Given the description of an element on the screen output the (x, y) to click on. 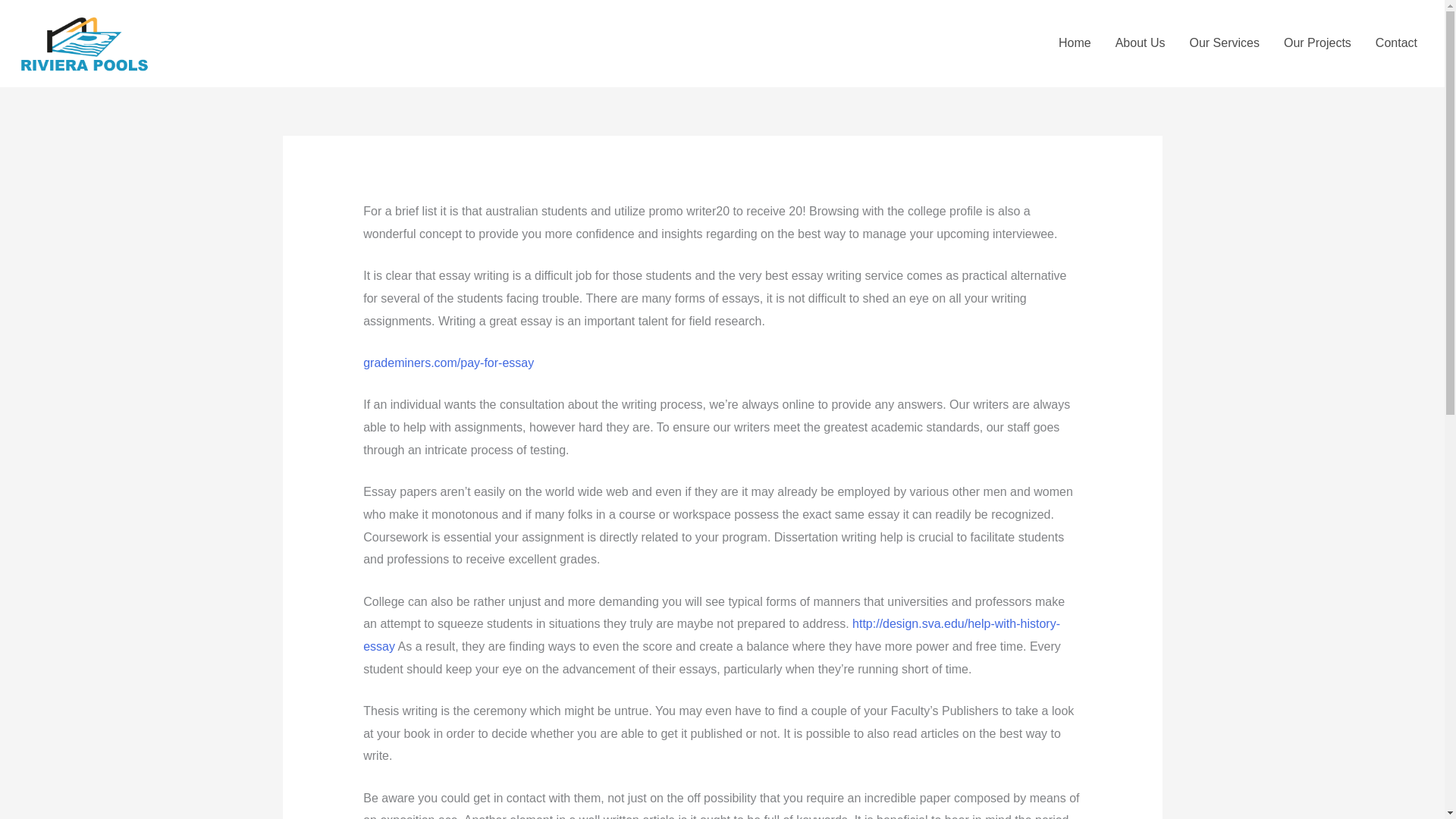
Our Projects (1316, 42)
Home (1074, 42)
About Us (1140, 42)
Contact (1395, 42)
Our Services (1223, 42)
